Given the description of an element on the screen output the (x, y) to click on. 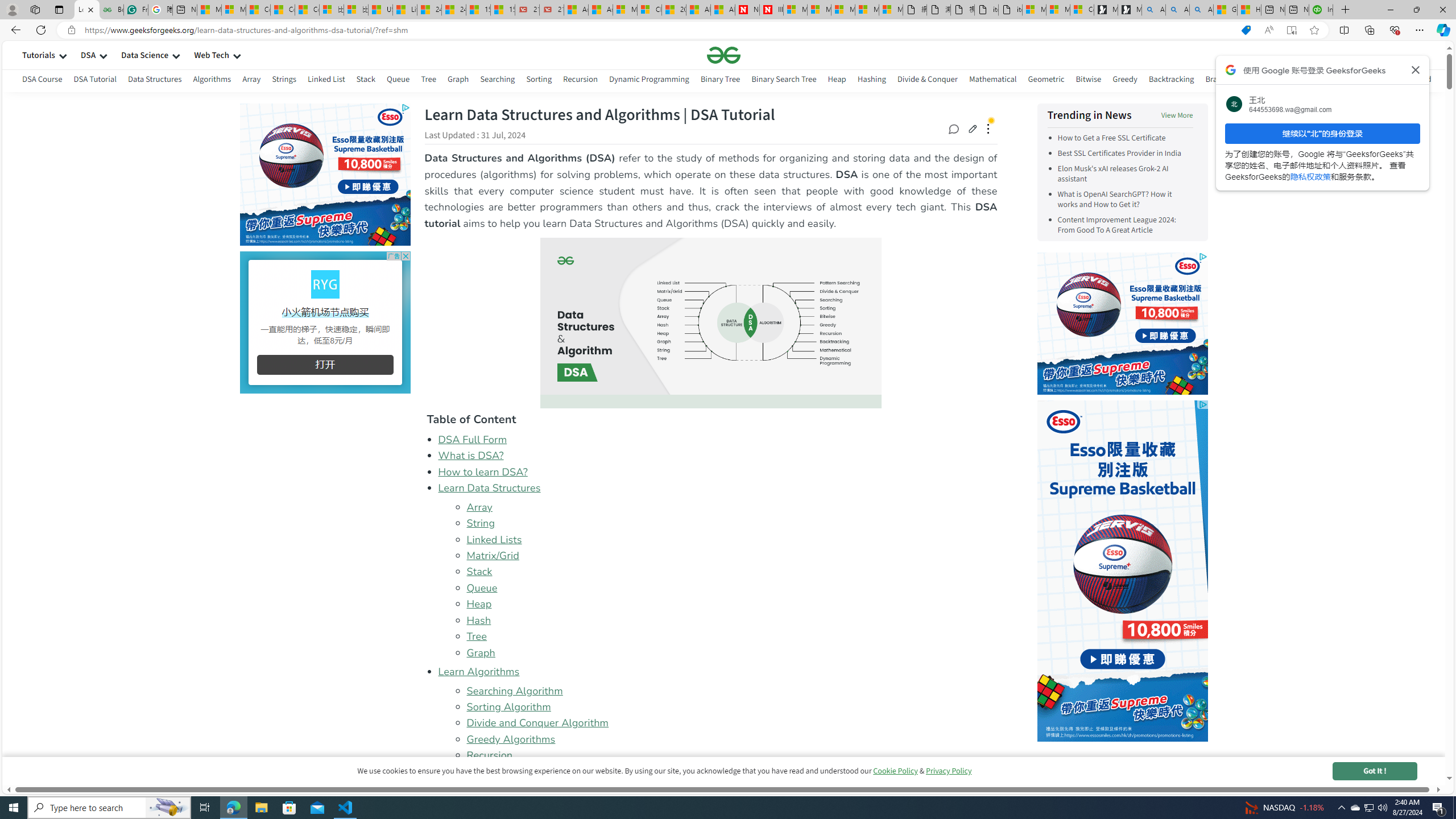
Mathematical (992, 80)
Greedy Algorithms (510, 739)
Array (478, 506)
Greedy (1124, 80)
Searching Algorithm (731, 690)
